Given the description of an element on the screen output the (x, y) to click on. 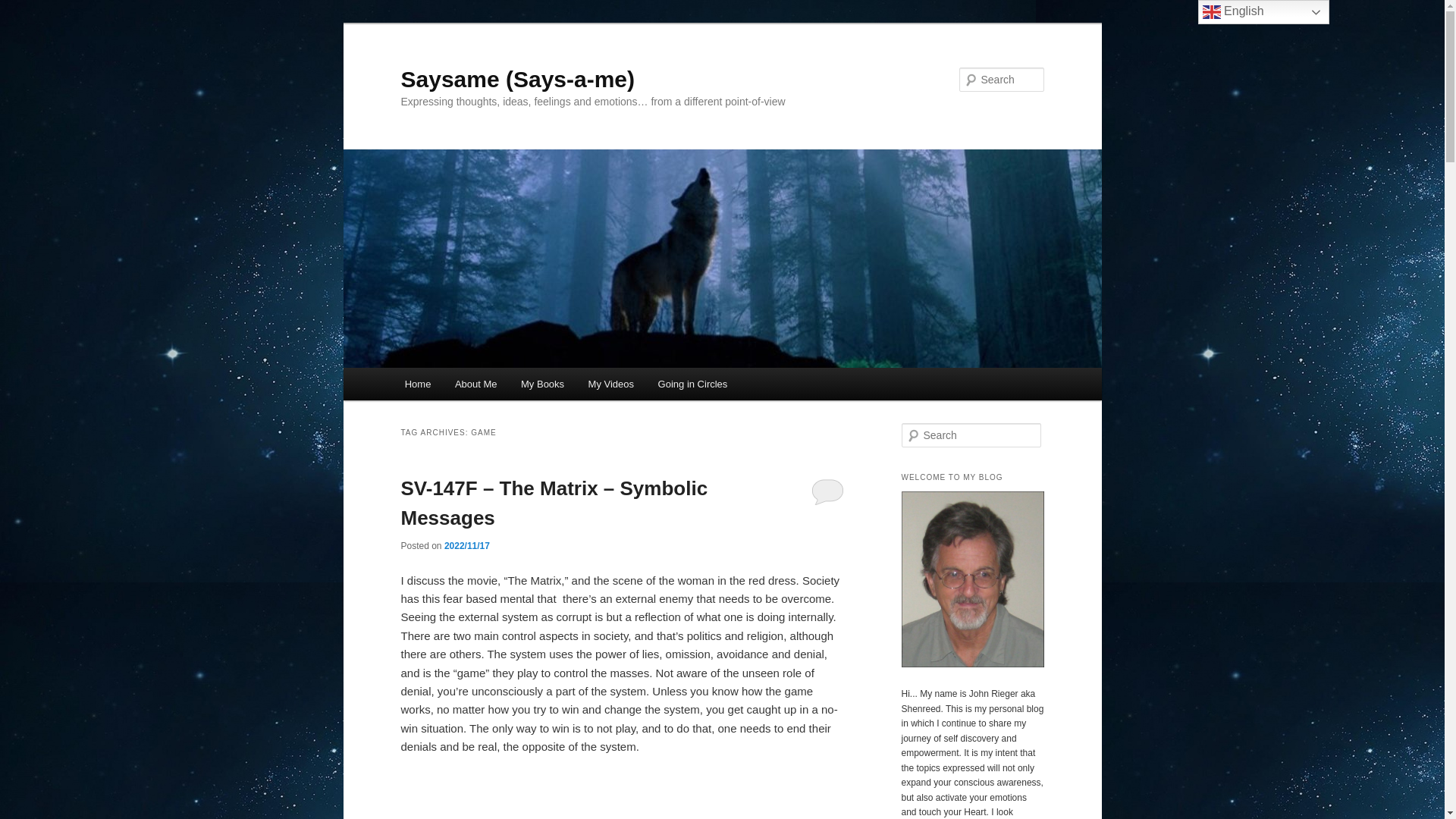
My Books (542, 383)
Home (417, 383)
Search (24, 8)
About Me (475, 383)
SV 147F   The Matrix   Symbolic Messages (621, 796)
Going in Circles (692, 383)
Me 2009 (972, 664)
9:32 pm (466, 545)
My Videos (611, 383)
